Given the description of an element on the screen output the (x, y) to click on. 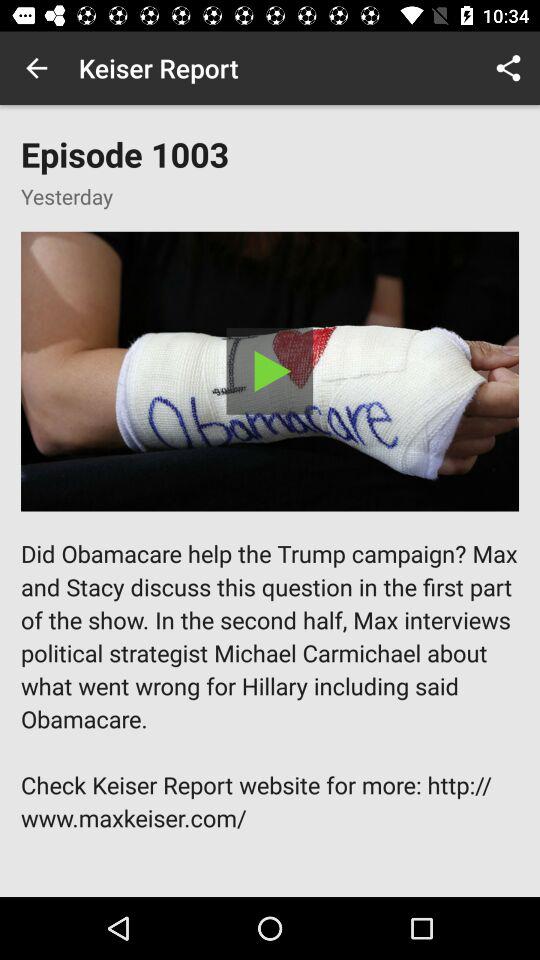
press icon above episode 1003 (36, 68)
